Given the description of an element on the screen output the (x, y) to click on. 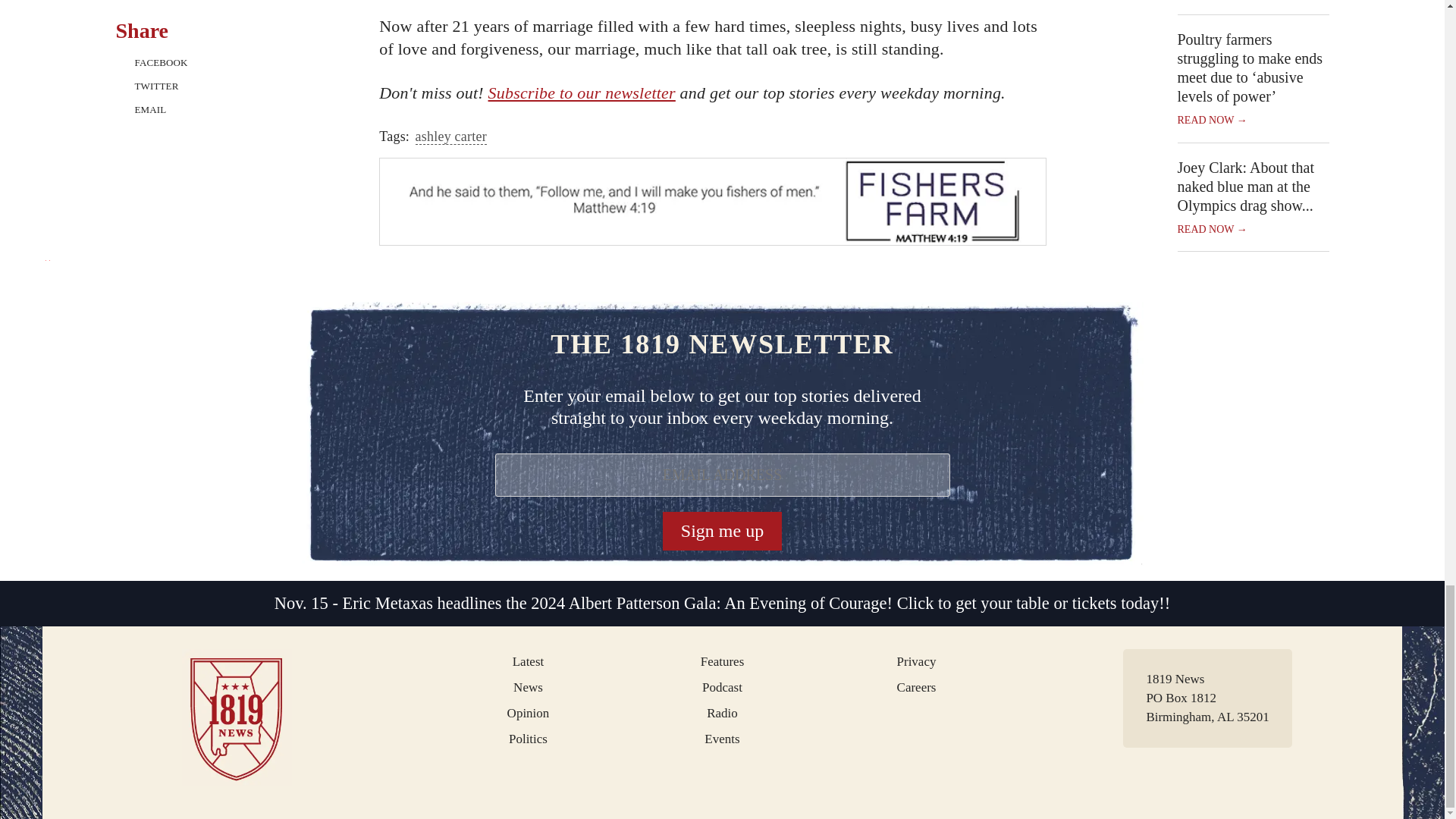
Fishers Farm730 (712, 201)
